Given the description of an element on the screen output the (x, y) to click on. 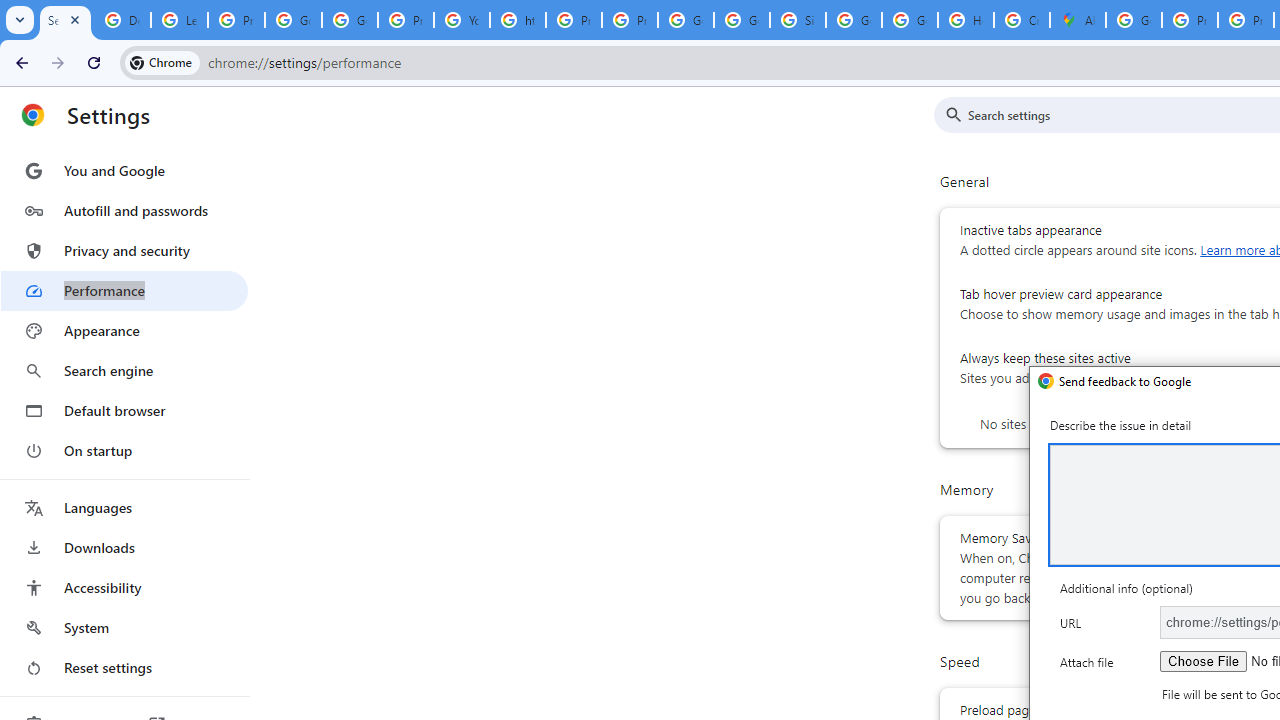
Autofill and passwords (124, 210)
Privacy Help Center - Policies Help (1190, 20)
Settings - Performance (65, 20)
Search engine (124, 370)
Default browser (124, 410)
Languages (124, 507)
Delete photos & videos - Computer - Google Photos Help (122, 20)
On startup (124, 450)
Privacy and security (124, 250)
https://scholar.google.com/ (518, 20)
